Given the description of an element on the screen output the (x, y) to click on. 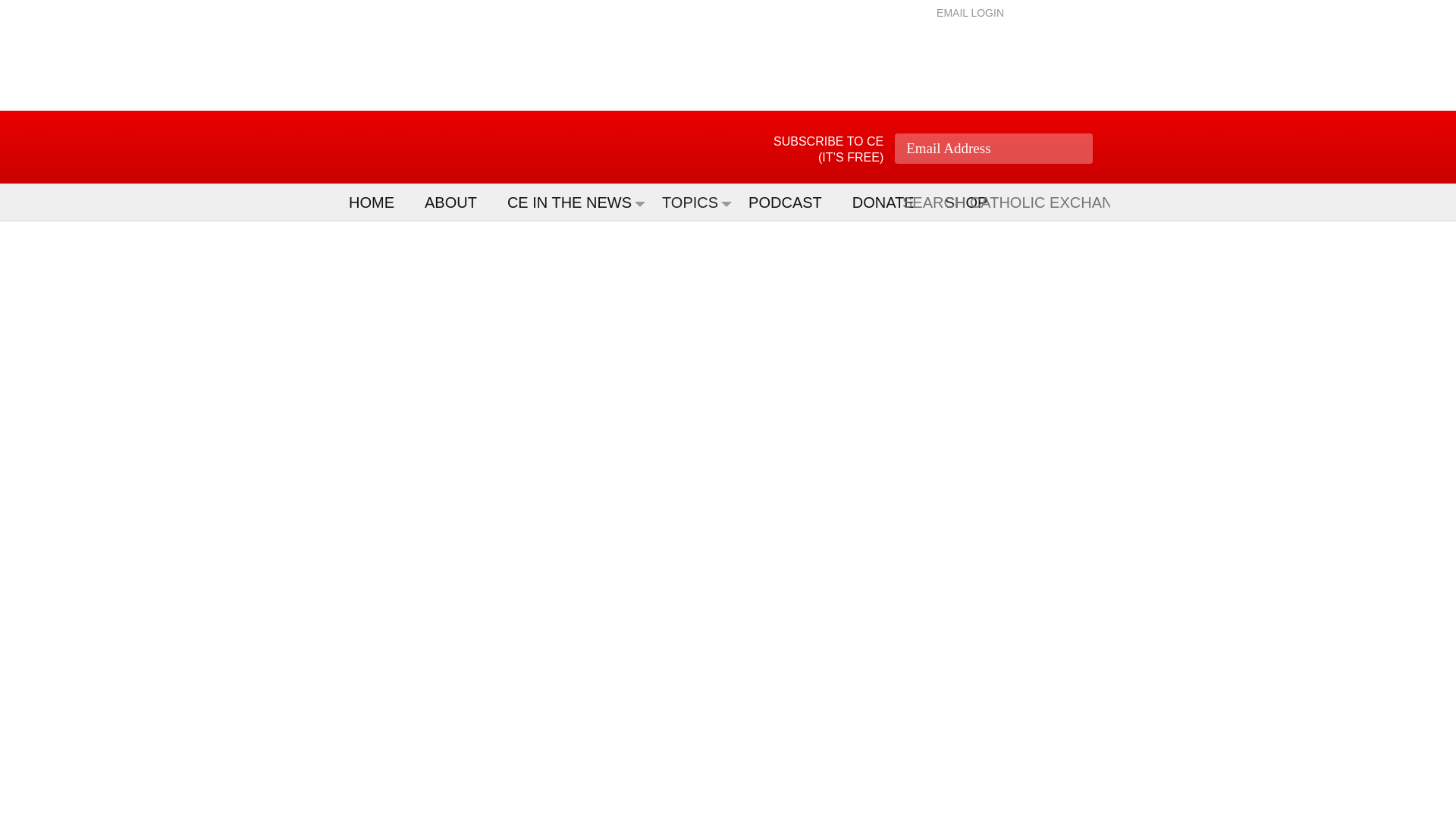
ABOUT (458, 201)
Catholic Exchange (435, 146)
EMAIL LOGIN (970, 12)
DONATE (890, 201)
CE IN THE NEWS (576, 201)
PODCAST (792, 201)
HOME (379, 201)
SHOP (973, 201)
